Given the description of an element on the screen output the (x, y) to click on. 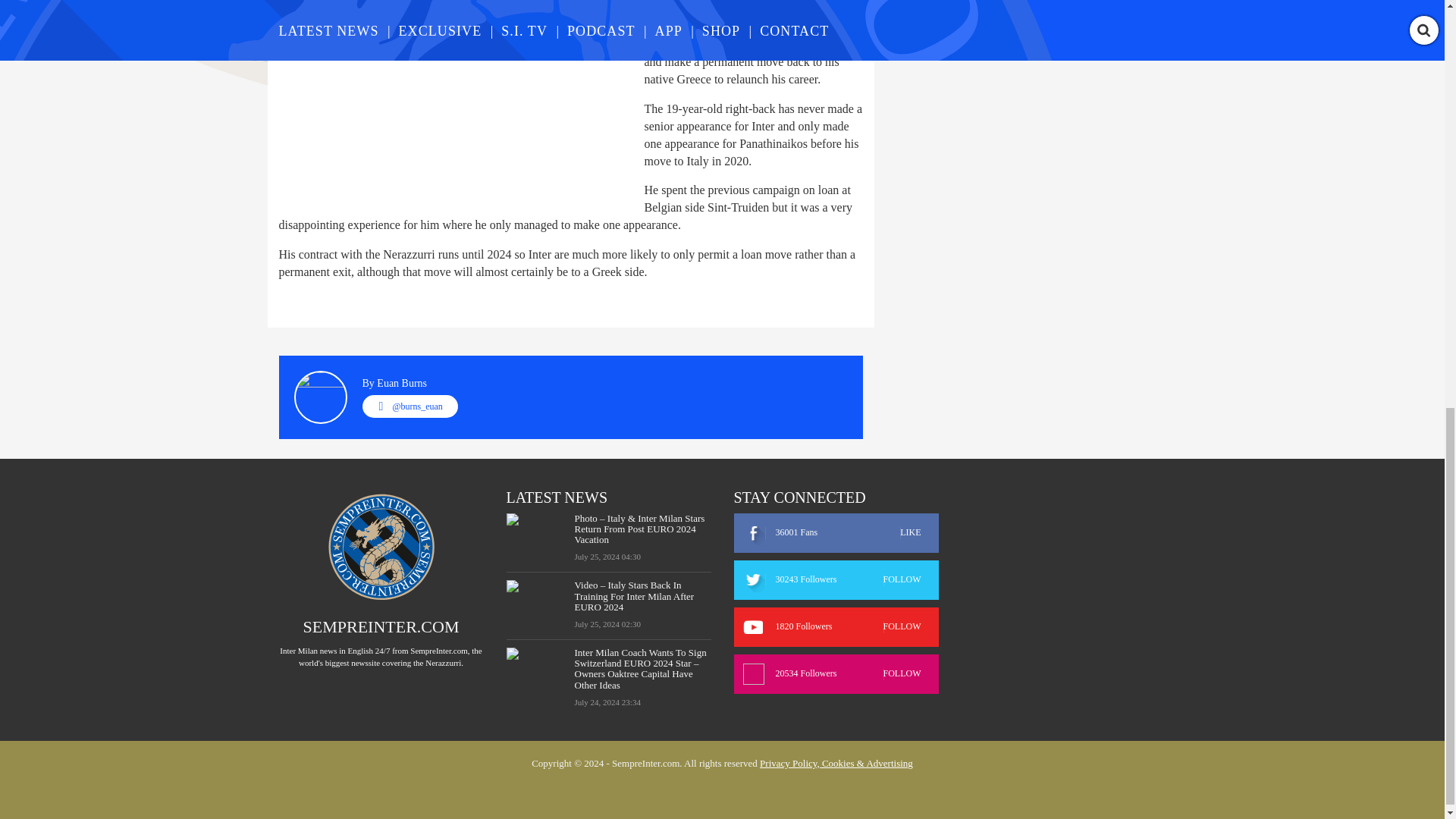
Euan Burns (401, 383)
View more articles by Euan Burns (401, 383)
FCIN1908 (791, 10)
SEMPREINTER.COM (381, 626)
